Given the description of an element on the screen output the (x, y) to click on. 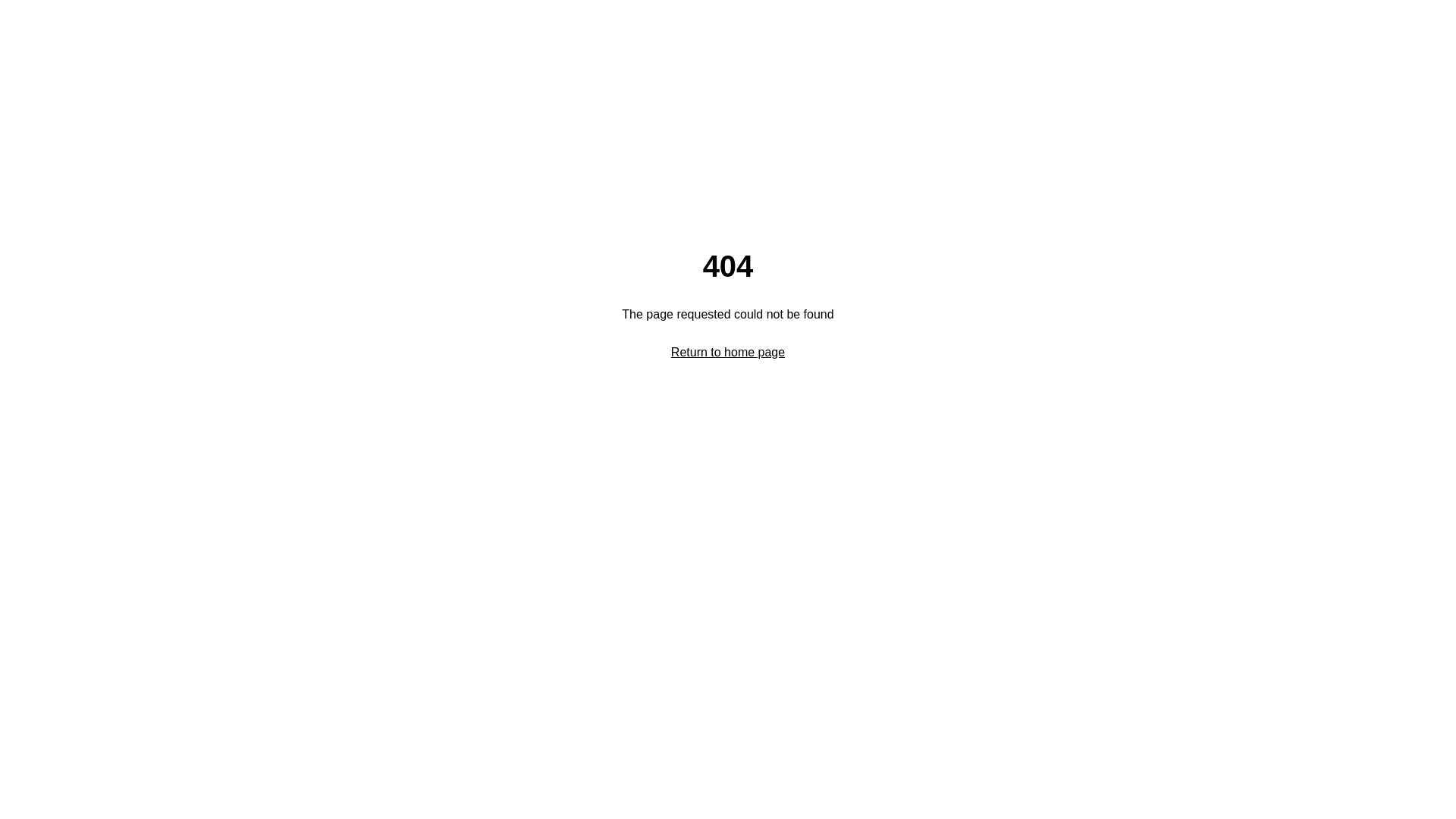
Return to home page Element type: text (727, 351)
